Given the description of an element on the screen output the (x, y) to click on. 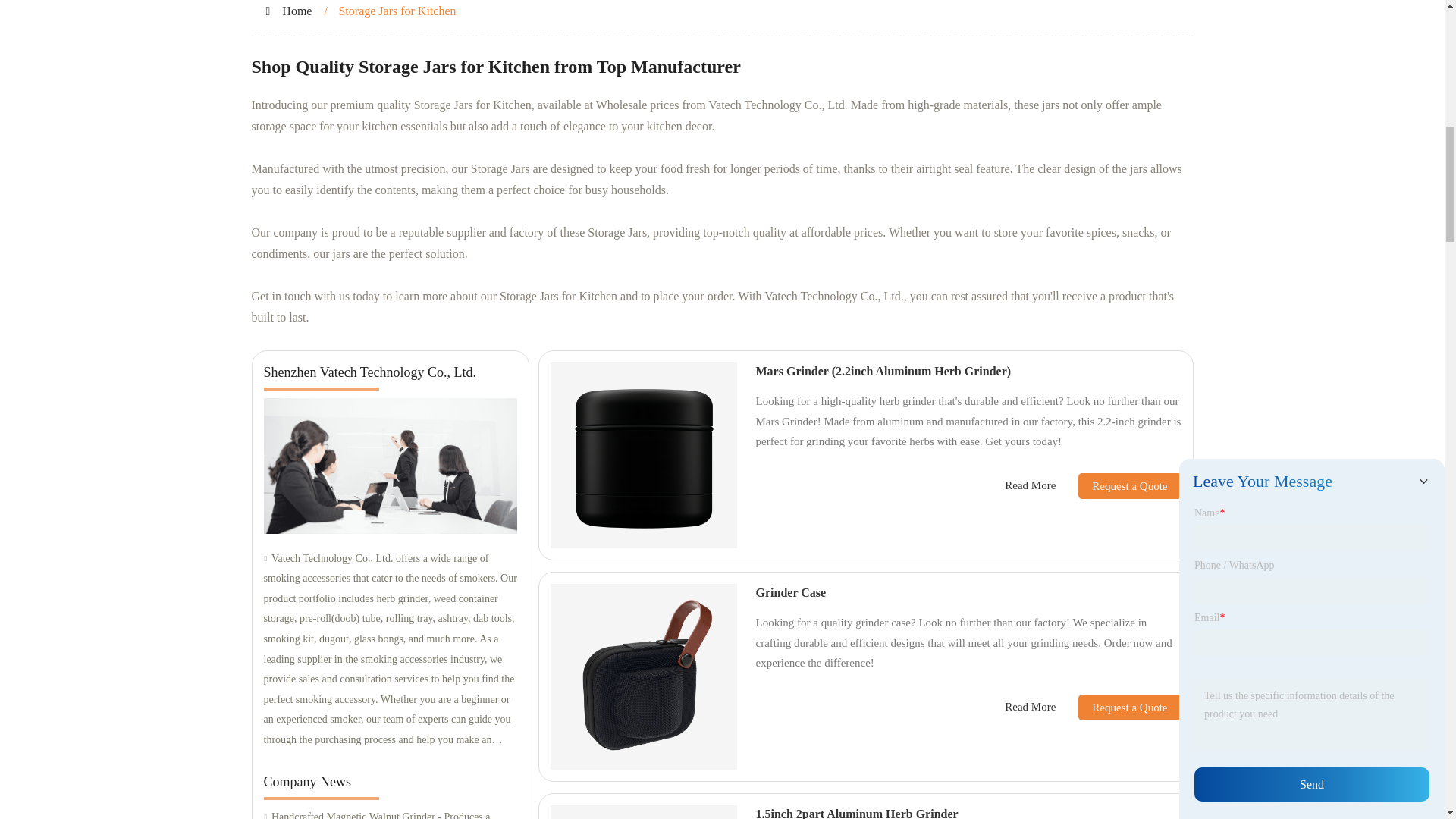
Read More (1029, 485)
Home (296, 10)
Request a Quote (1117, 485)
Grinder Case (790, 592)
